Given the description of an element on the screen output the (x, y) to click on. 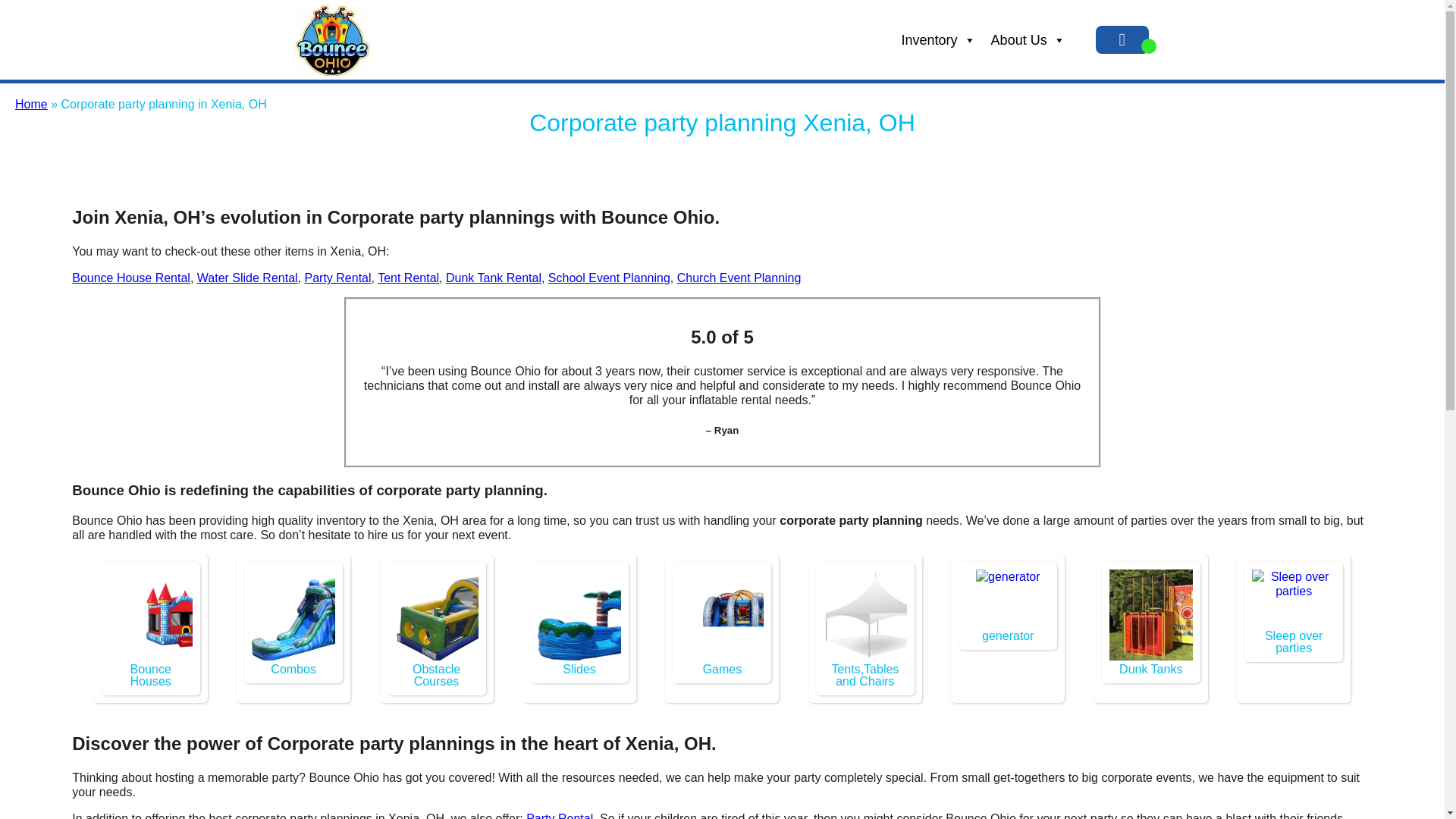
Tent Rental (408, 277)
Combos (292, 669)
Water Slide Rental (247, 277)
About Us (1028, 40)
Inventory (938, 40)
Home (31, 103)
Obstacle Courses (436, 675)
School Event Planning (608, 277)
Bounce Houses (150, 675)
Combos (327, 614)
